Given the description of an element on the screen output the (x, y) to click on. 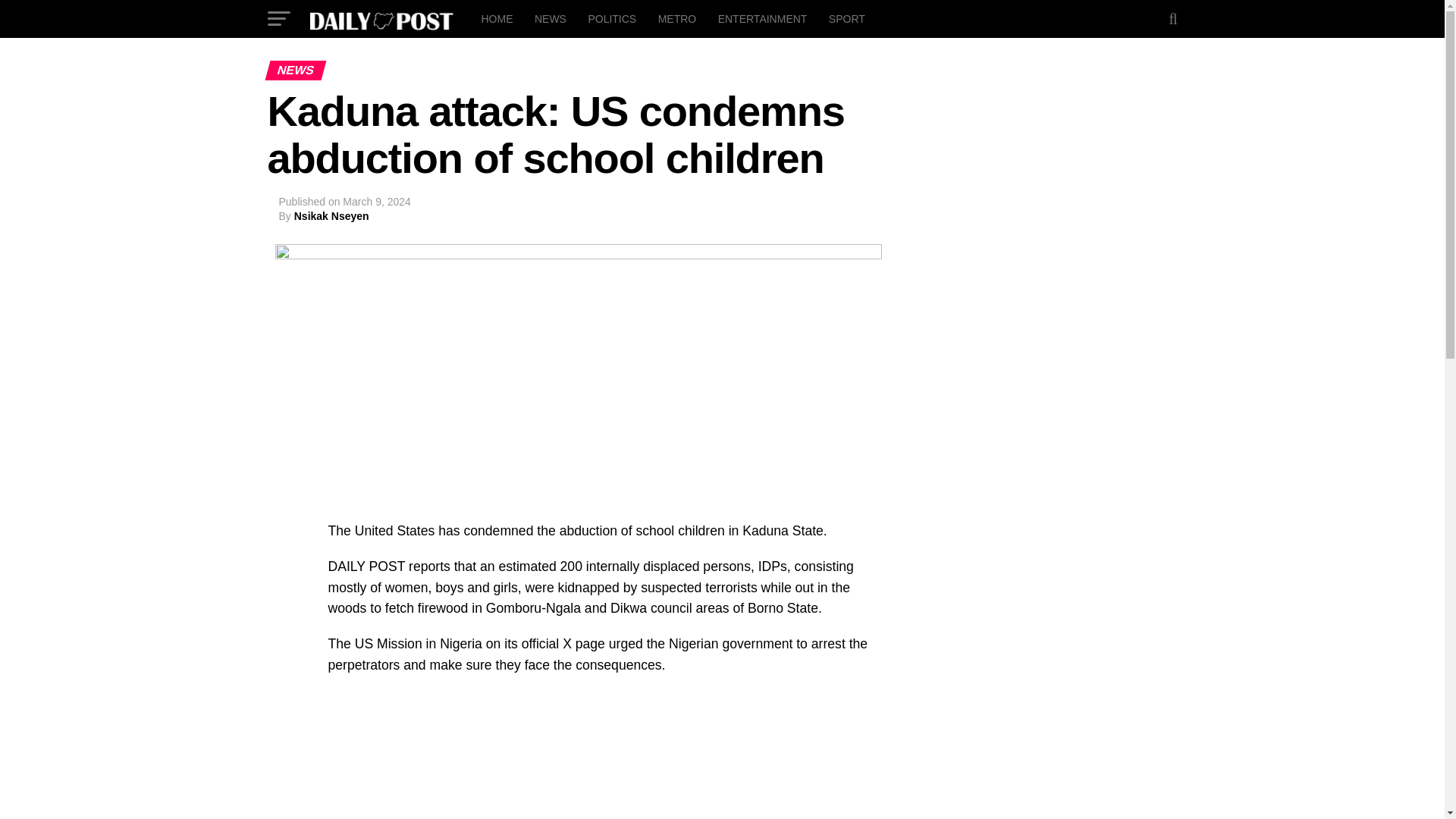
NEWS (550, 18)
METRO (677, 18)
POLITICS (611, 18)
ENTERTAINMENT (762, 18)
Nsikak Nseyen (331, 215)
SPORT (847, 18)
HOME (496, 18)
Posts by Nsikak Nseyen (331, 215)
